Given the description of an element on the screen output the (x, y) to click on. 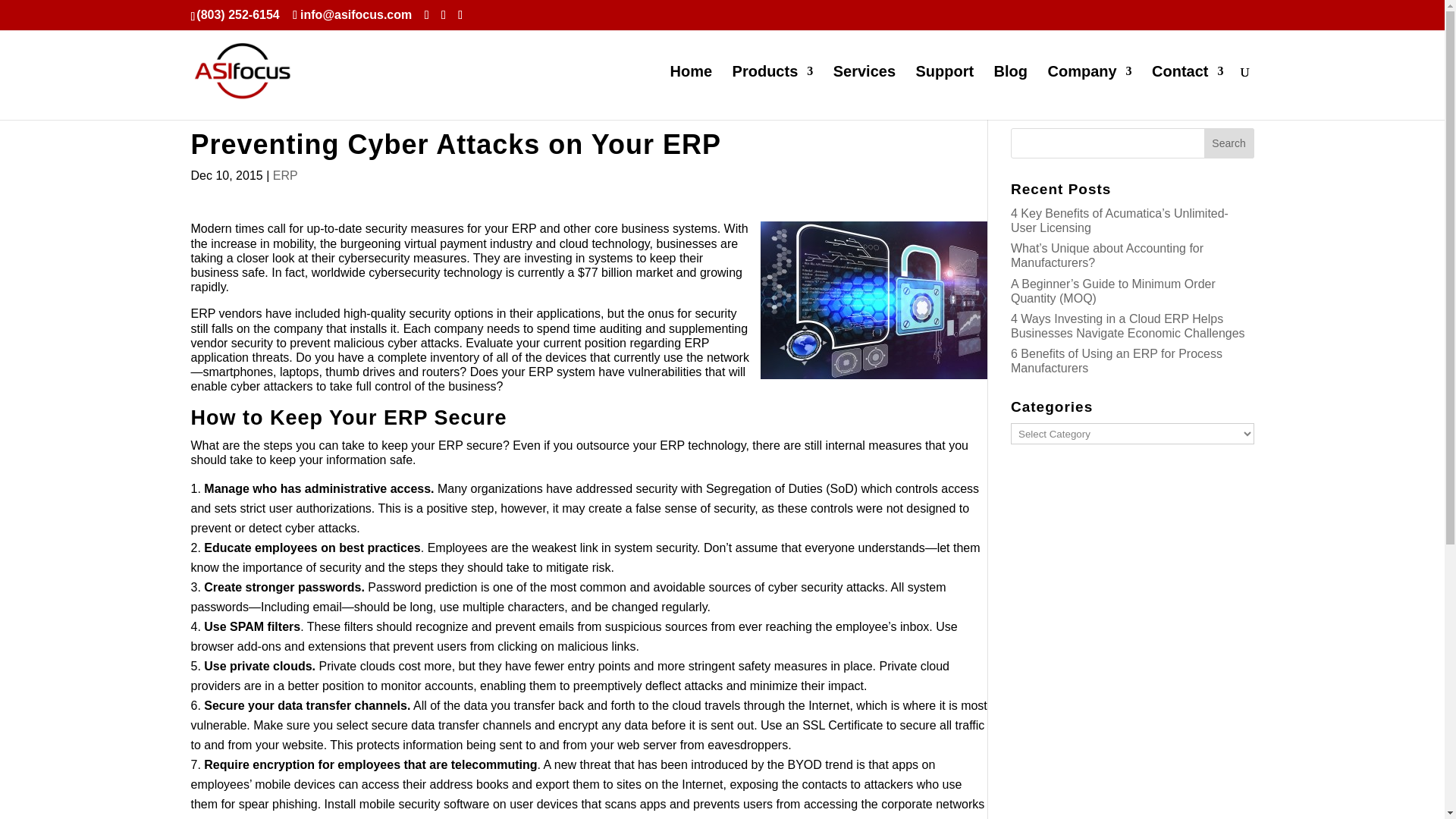
ERP (285, 174)
Company (1088, 92)
Services (863, 92)
Support (944, 92)
6 Benefits of Using an ERP for Process Manufacturers (1116, 360)
Products (772, 92)
Search (1228, 142)
Contact (1187, 92)
Search (1228, 142)
